Given the description of an element on the screen output the (x, y) to click on. 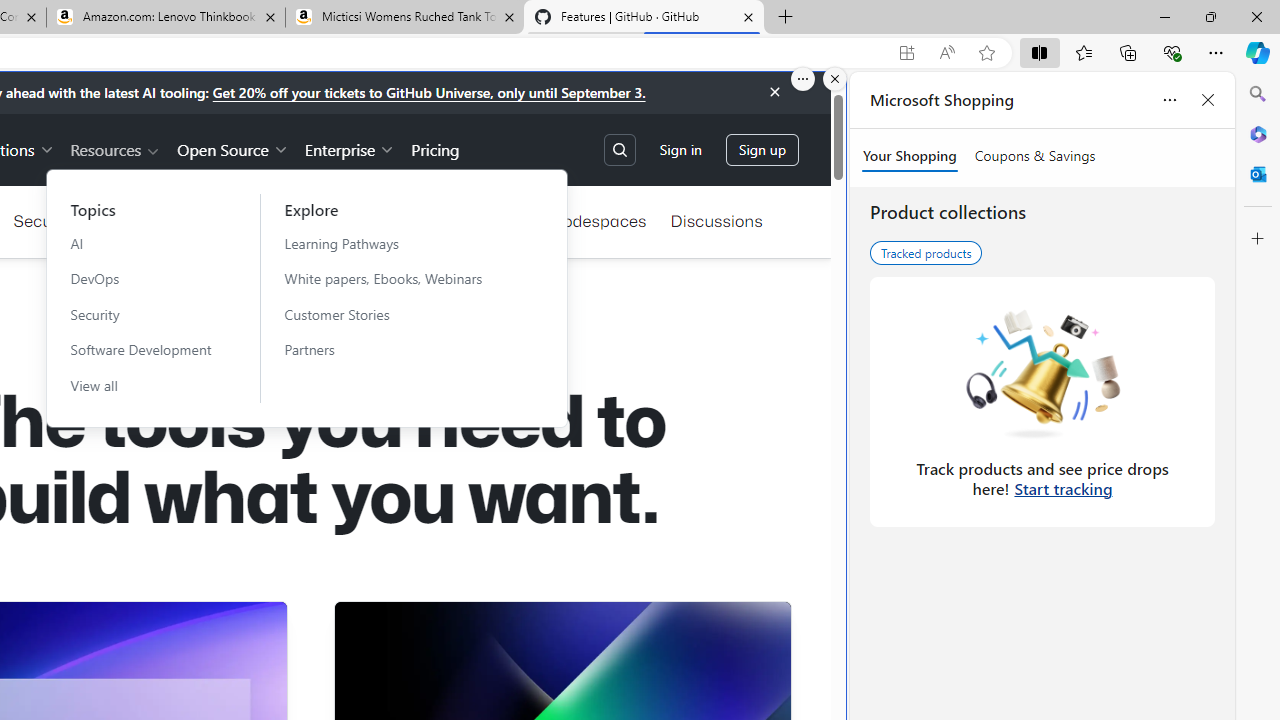
Issues (320, 220)
Learning Pathways (395, 243)
Security (44, 220)
Actions (397, 220)
Code review (146, 220)
Packages (488, 220)
Partners (395, 349)
Software Development (141, 349)
